Given the description of an element on the screen output the (x, y) to click on. 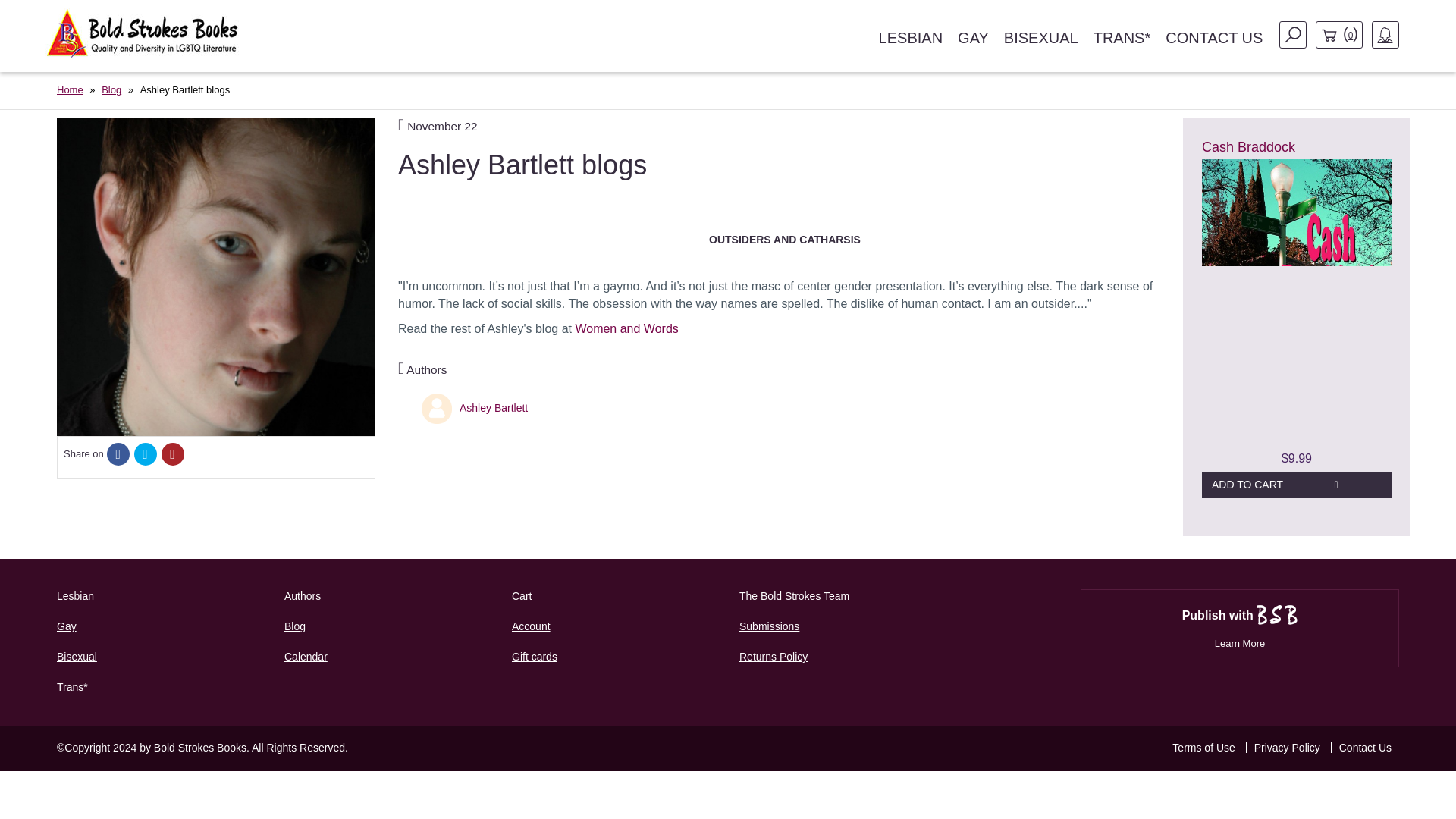
Home (69, 89)
ADD TO CART (1296, 484)
CONTACT US (1213, 37)
Women and Words (626, 328)
Cash Braddock (1248, 146)
Lesbian (159, 596)
Ashley Bartlett (493, 408)
GAY (972, 37)
Gay (159, 626)
Ashley Bartlett (436, 408)
